Given the description of an element on the screen output the (x, y) to click on. 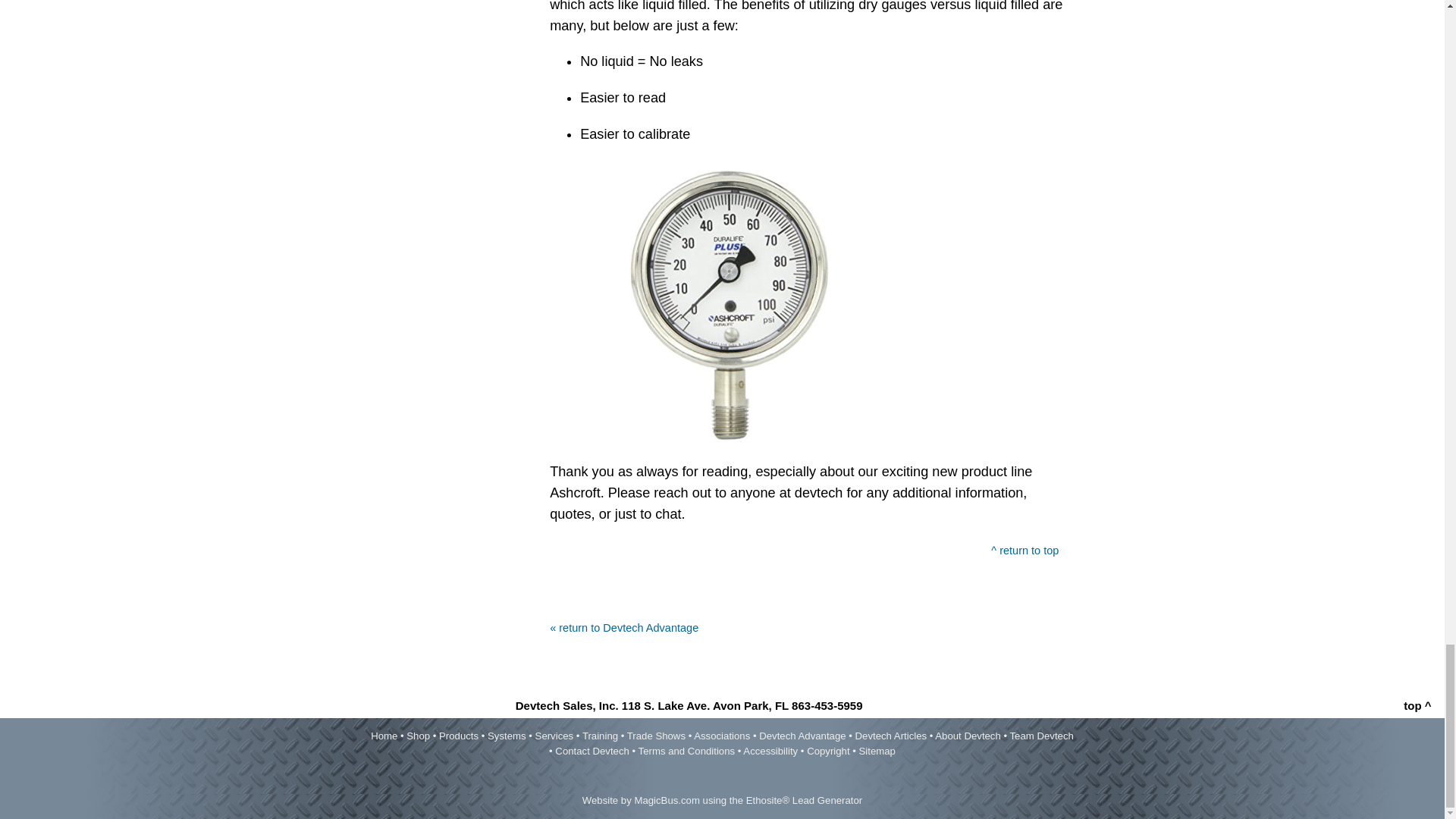
Systems (506, 736)
Services (554, 736)
About Devtech (967, 736)
Shop (417, 736)
Devtech Articles (891, 736)
Trade Shows (656, 736)
Home (384, 736)
Devtech Advantage (801, 736)
Devtech Advantage Newsletter -  Ashcroft (739, 302)
Products (459, 736)
